Given the description of an element on the screen output the (x, y) to click on. 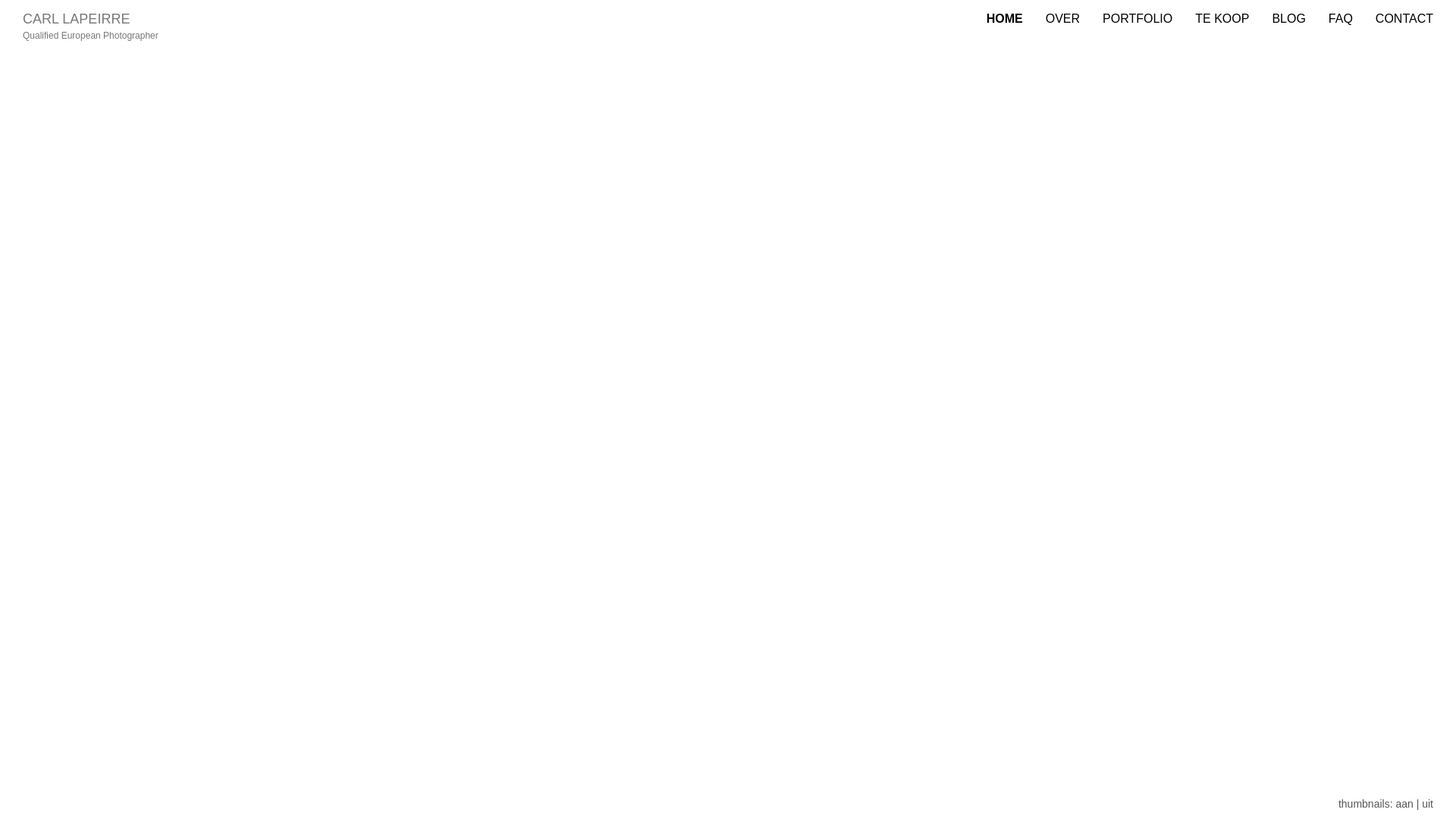
CARL LAPEIRRE
Qualified European Photographer Element type: text (90, 18)
HOME Element type: text (1004, 18)
TE KOOP Element type: text (1221, 18)
BLOG Element type: text (1288, 18)
CONTACT Element type: text (1404, 18)
uit Element type: text (1427, 803)
OVER Element type: text (1062, 18)
aan Element type: text (1403, 803)
PORTFOLIO Element type: text (1137, 18)
FAQ Element type: text (1340, 18)
